Given the description of an element on the screen output the (x, y) to click on. 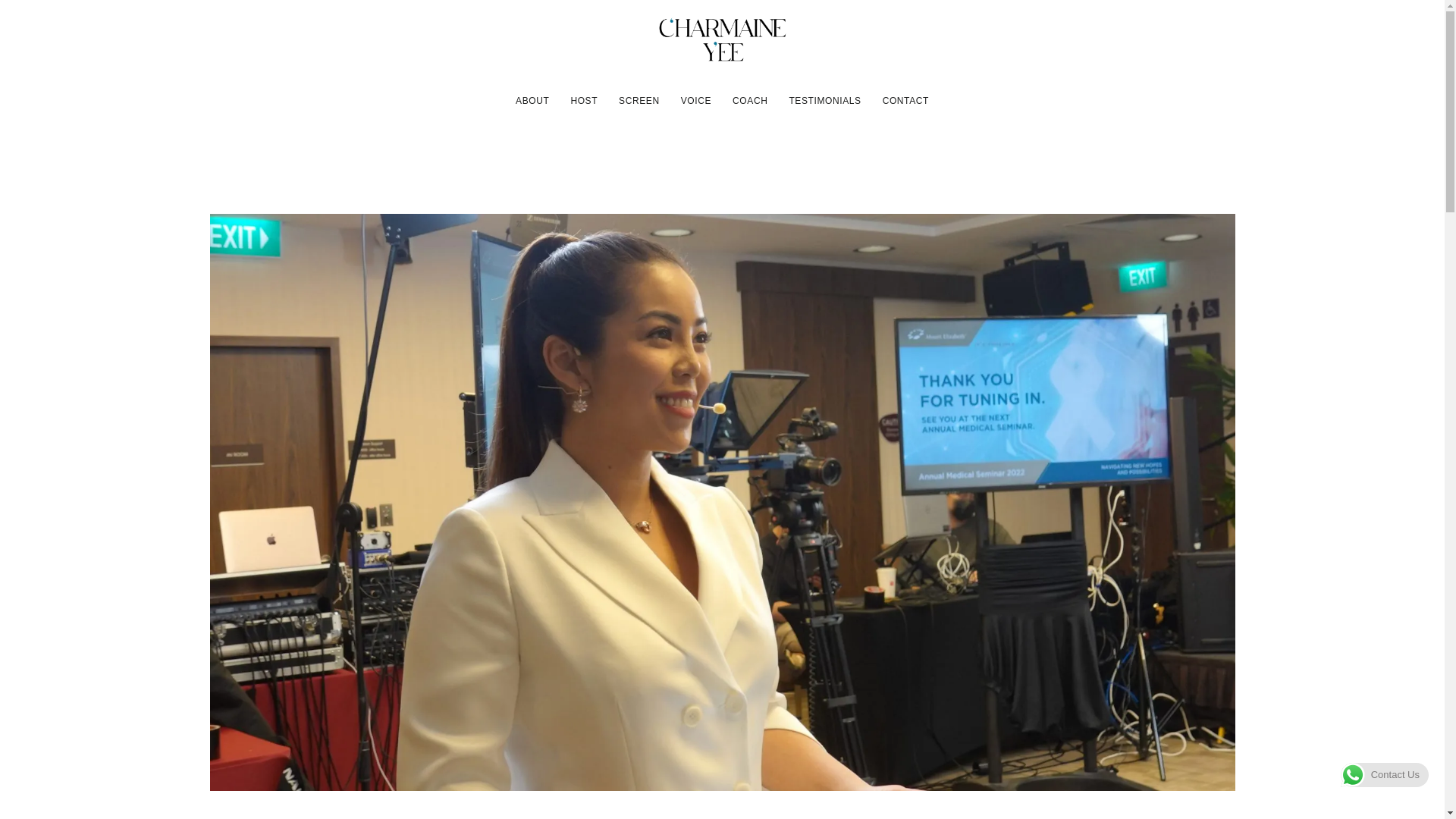
YouTube (278, 99)
SCREEN (638, 100)
TESTIMONIALS (824, 100)
Testimonials (824, 100)
HOST (583, 100)
Host (583, 100)
Twitter (310, 99)
Instagram (246, 99)
ABOUT (532, 100)
Voice (695, 100)
Contact (905, 100)
COACH (749, 100)
Screen (638, 100)
Coach (749, 100)
Twitter (310, 99)
